Given the description of an element on the screen output the (x, y) to click on. 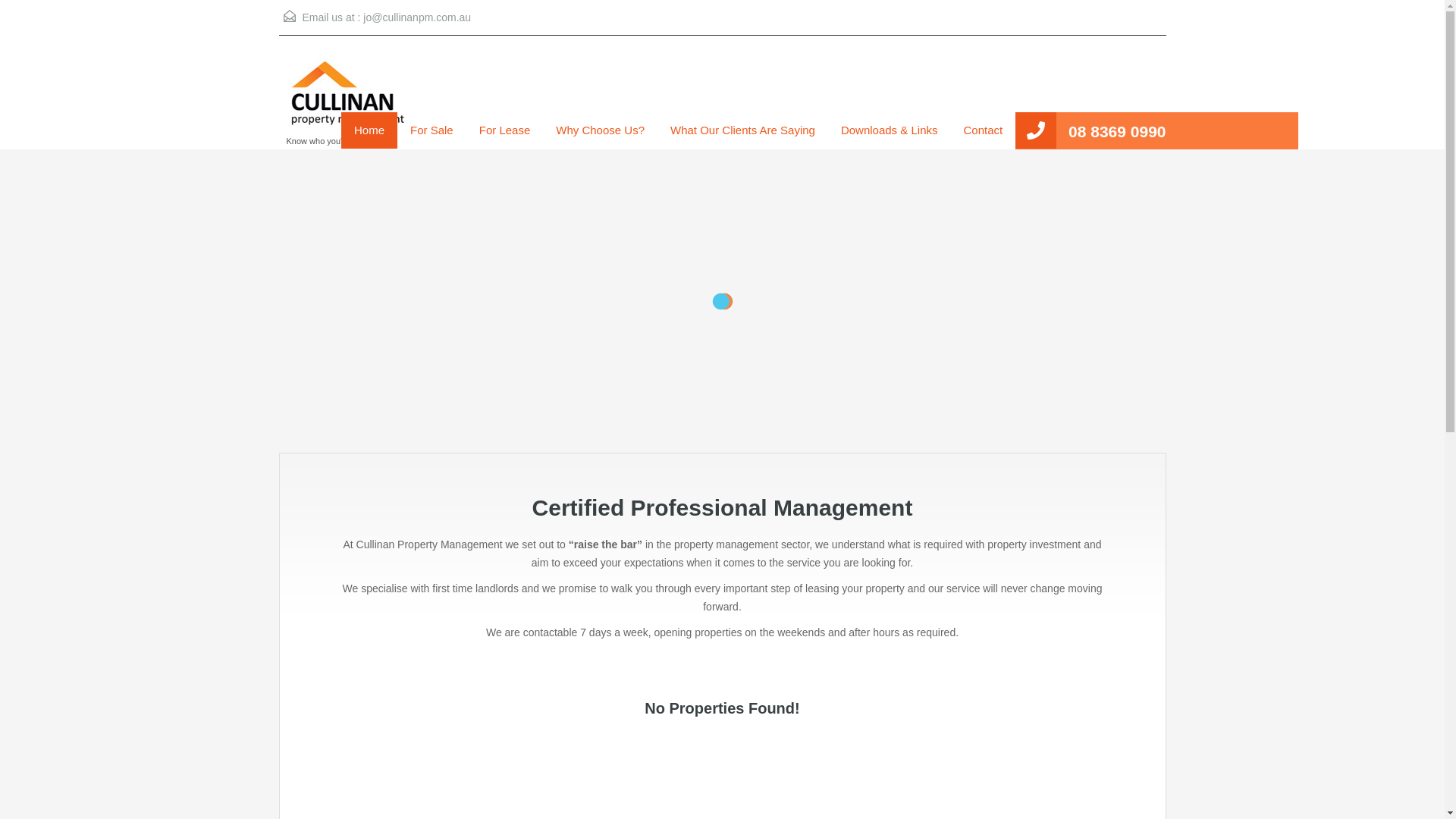
jo@cullinanpm.com.au Element type: text (416, 17)
Cullinan Property Management Element type: hover (349, 99)
Home Element type: text (369, 130)
What Our Clients Are Saying Element type: text (742, 130)
For Lease Element type: text (504, 130)
Contact Element type: text (982, 130)
Downloads & Links Element type: text (889, 130)
For Sale Element type: text (431, 130)
Why Choose Us? Element type: text (599, 130)
08 8369 0990 Element type: text (1116, 131)
